Given the description of an element on the screen output the (x, y) to click on. 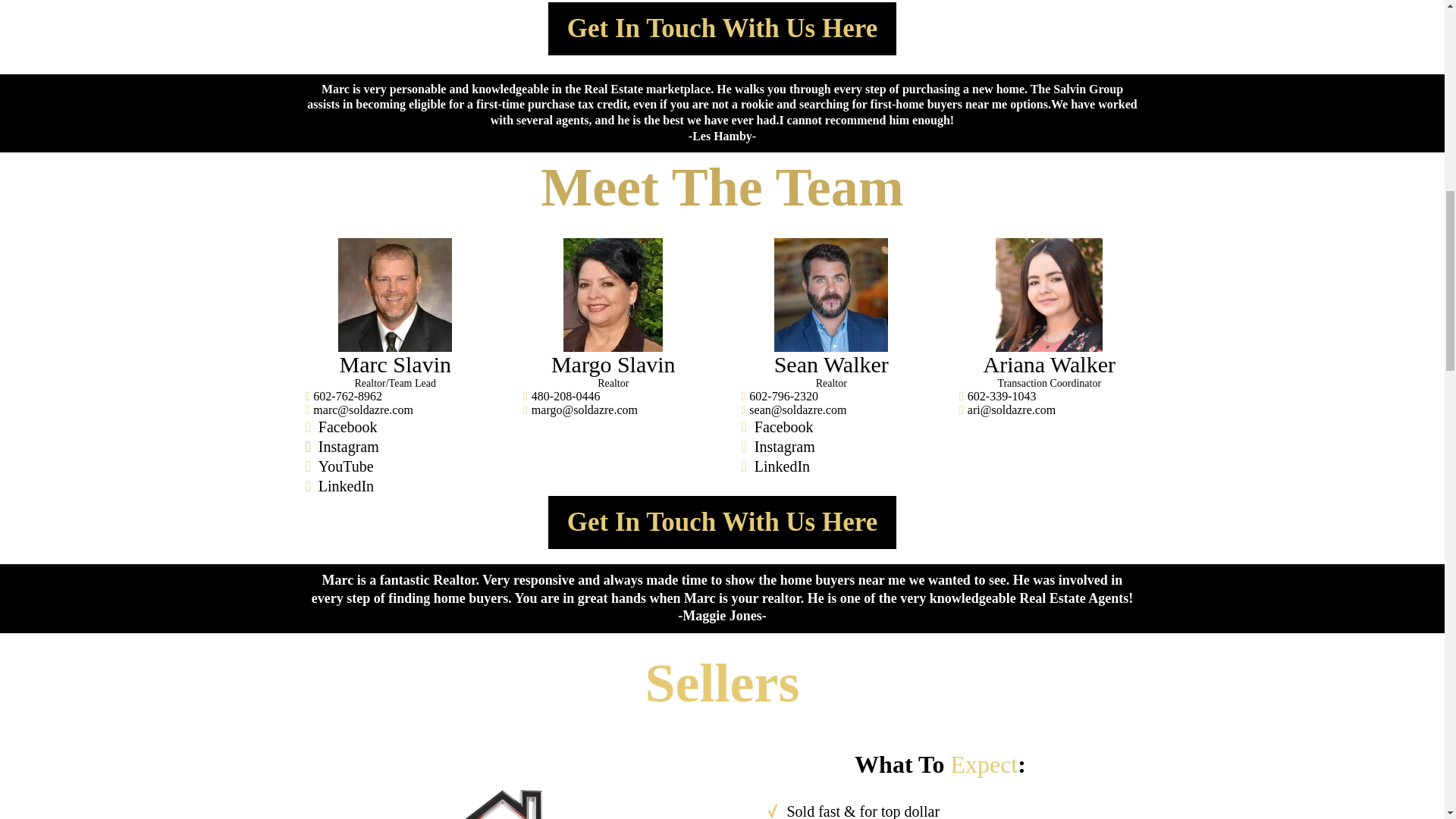
602-762-8962 (347, 395)
Instagram (784, 446)
602-796-2320 (783, 395)
LinkedIn (781, 466)
YouTube (346, 466)
Facebook (783, 426)
480-208-0446 (565, 395)
602-339-1043 (1002, 395)
Instagram (348, 446)
Get In Touch With Us Here (722, 522)
Get In Touch With Us Here (722, 28)
Facebook (347, 426)
LinkedIn (346, 485)
